Given the description of an element on the screen output the (x, y) to click on. 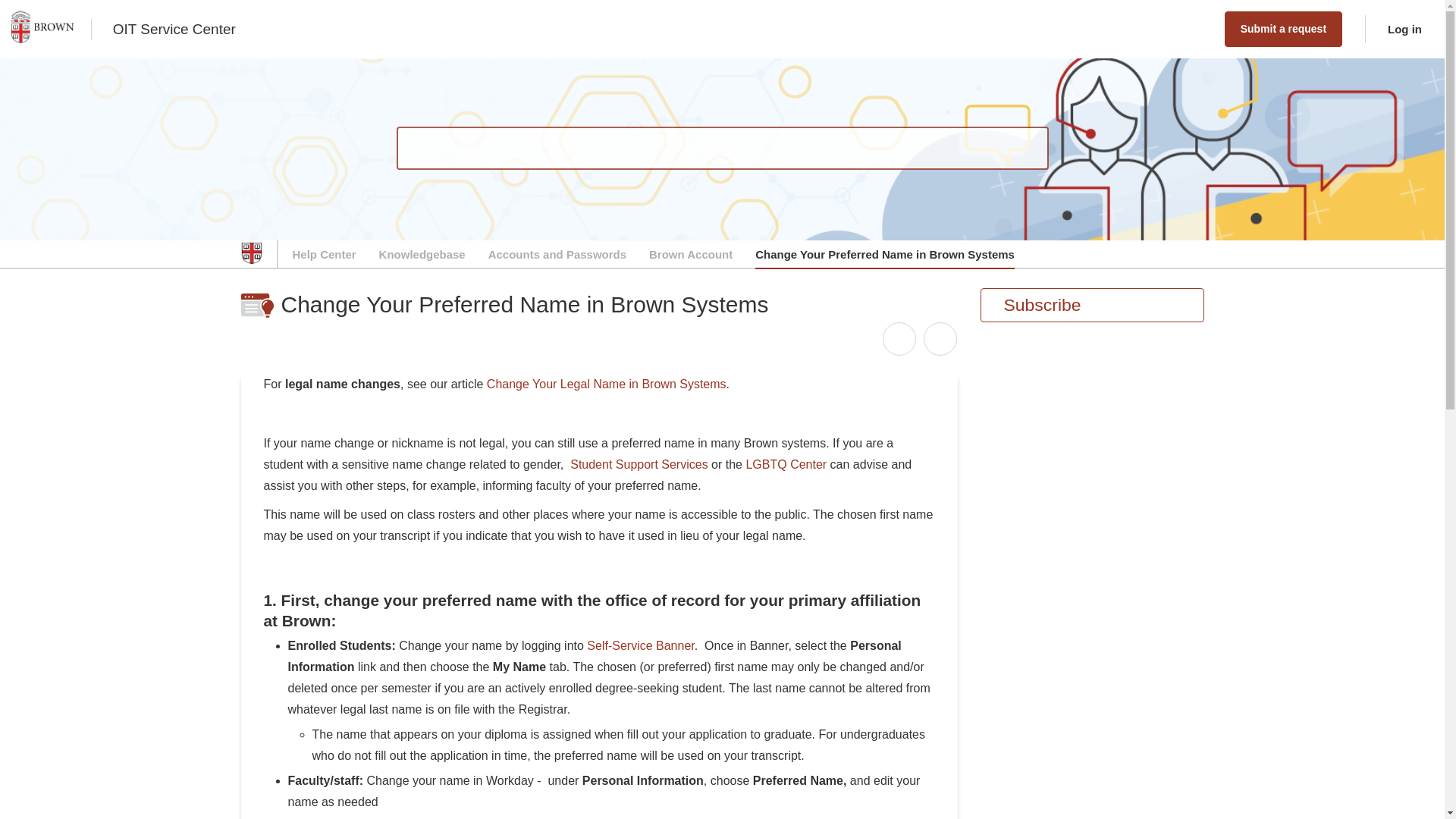
Accounts and Passwords (556, 254)
Student Support Services (638, 463)
Submit a request (1283, 28)
Change Your Legal Name in Brown Systems (606, 383)
Help Center (324, 254)
OIT Service Center (174, 29)
Change Your Preferred Name in Brown Systems (884, 254)
LGBTQ Center (786, 463)
Knowledgebase (421, 254)
Self-Service Banner (640, 645)
